Given the description of an element on the screen output the (x, y) to click on. 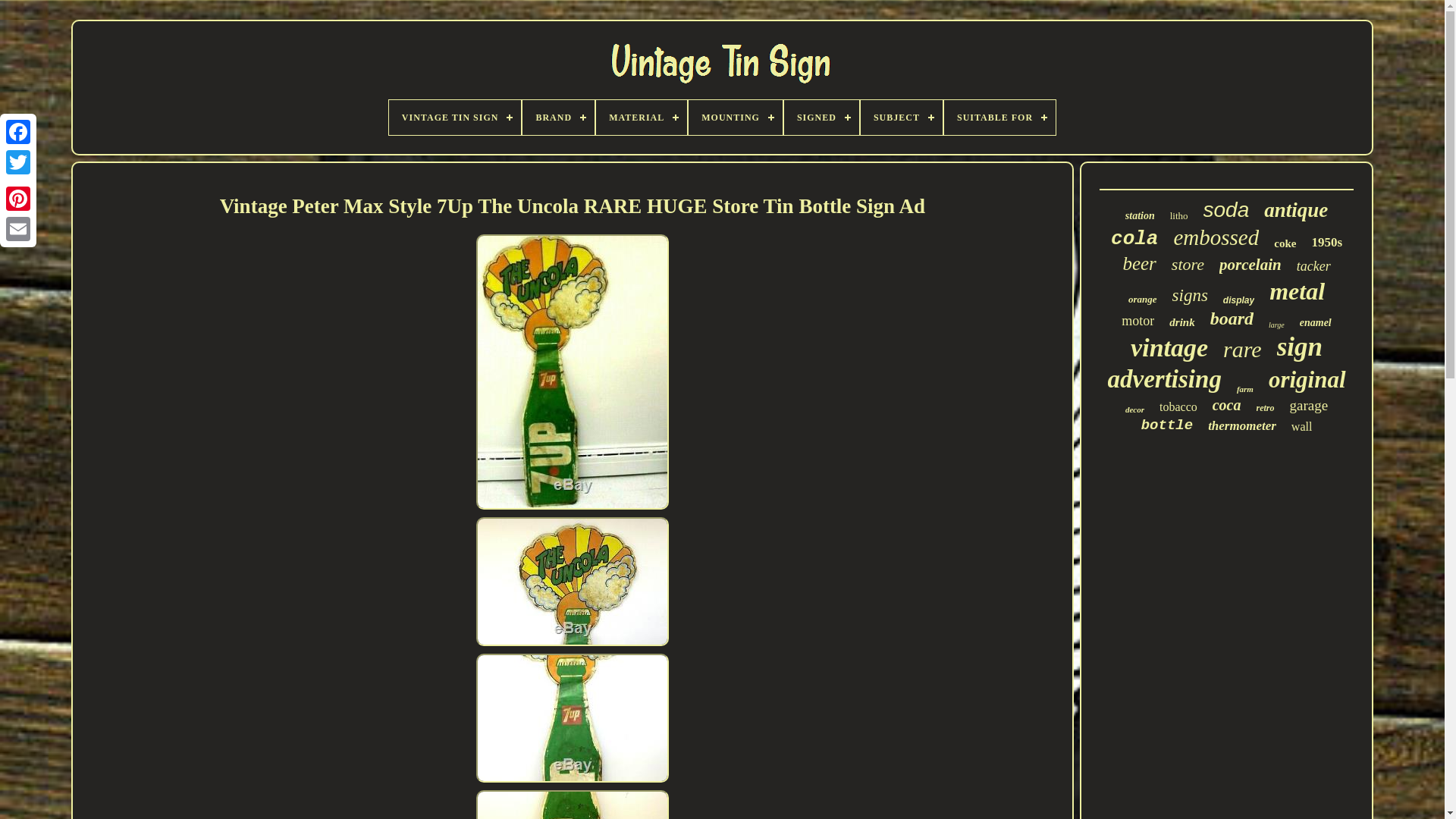
VINTAGE TIN SIGN (454, 117)
BRAND (558, 117)
MATERIAL (641, 117)
